Given the description of an element on the screen output the (x, y) to click on. 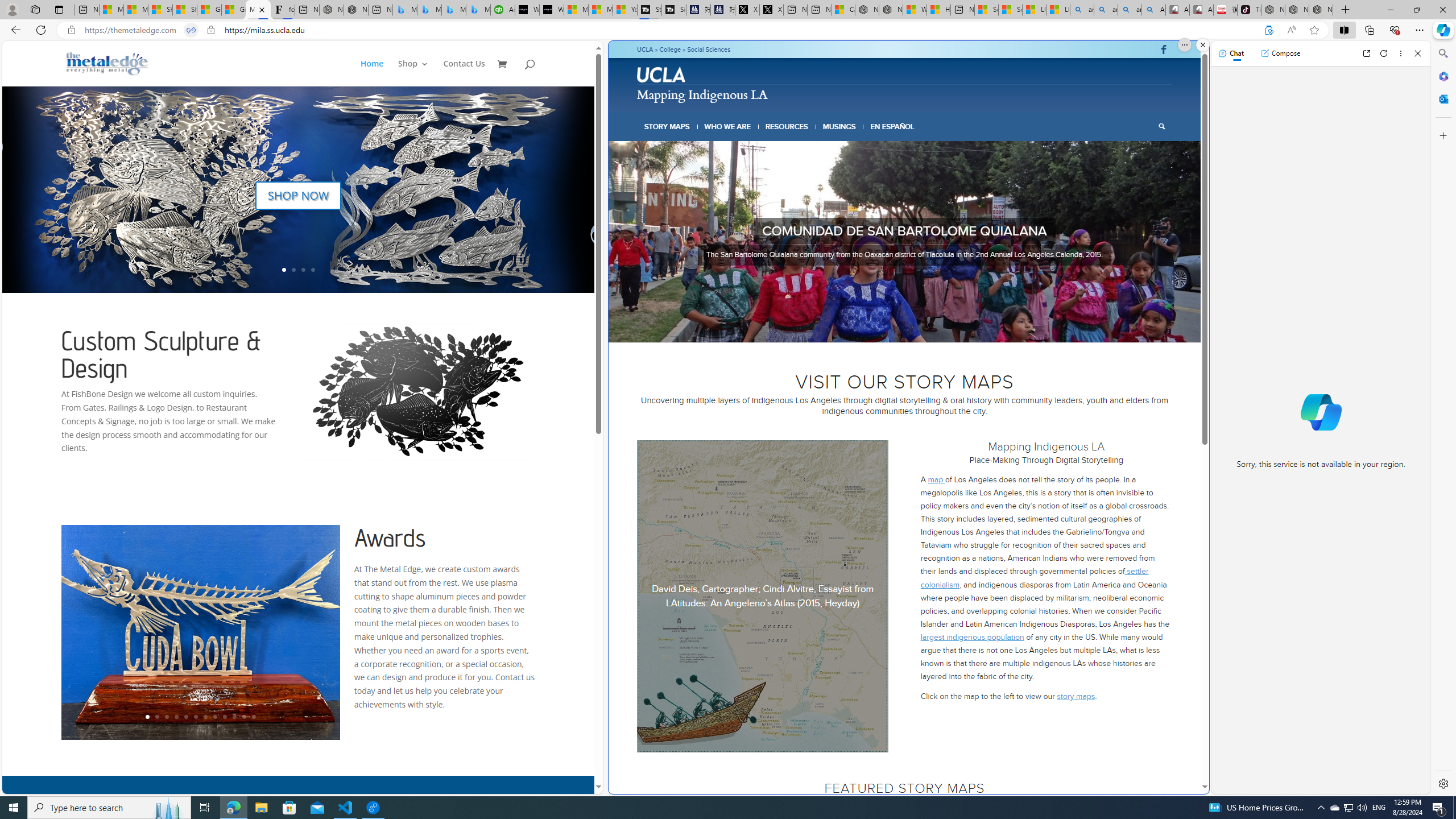
Shop3 (419, 72)
8 (935, 328)
Compose (1280, 52)
3 (890, 328)
MUSINGS (839, 126)
STORY MAPS (667, 126)
Side bar (1443, 418)
